Given the description of an element on the screen output the (x, y) to click on. 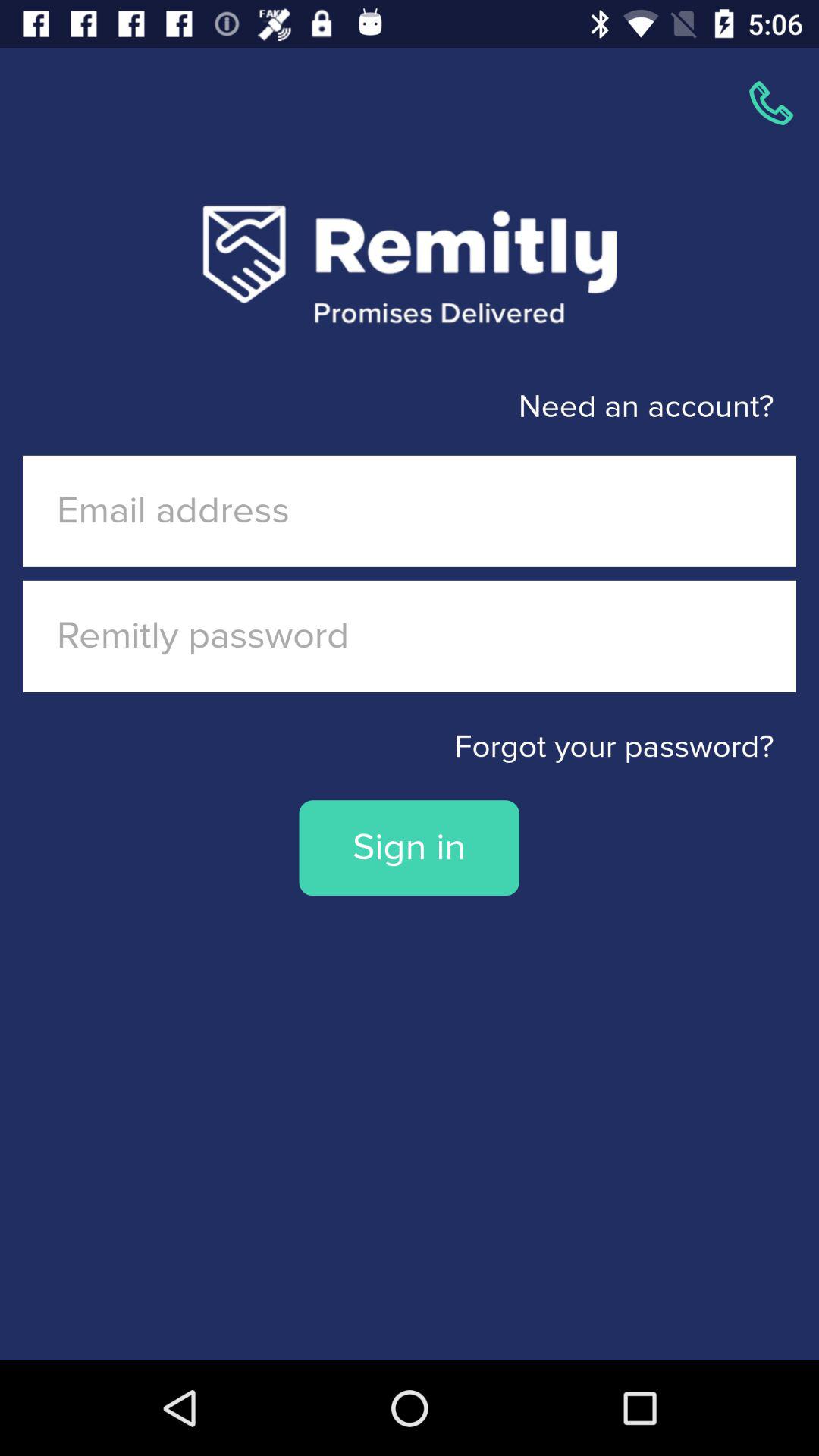
open icon above the need an account? app (771, 103)
